Given the description of an element on the screen output the (x, y) to click on. 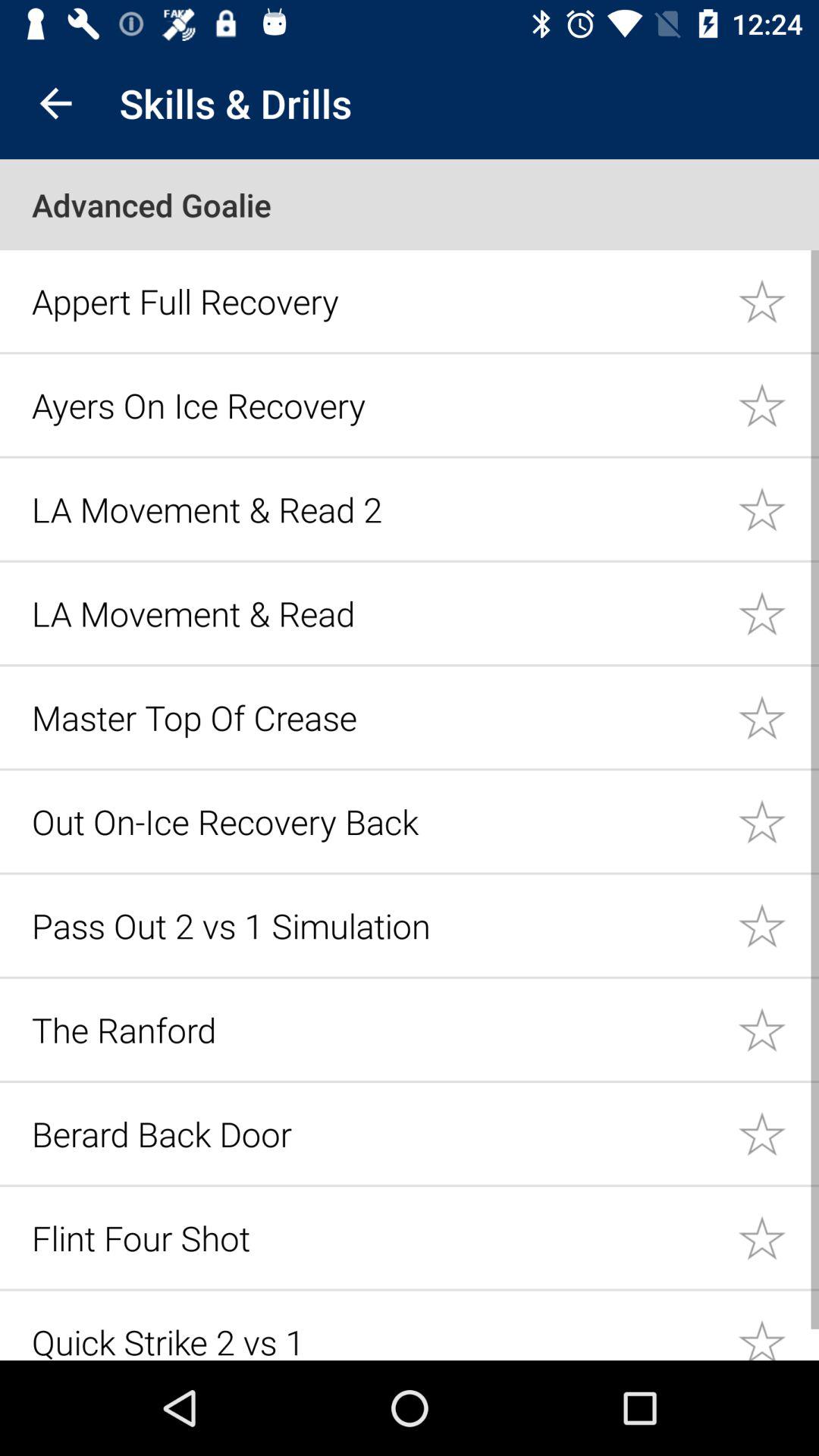
favorite a training drill (778, 1133)
